Given the description of an element on the screen output the (x, y) to click on. 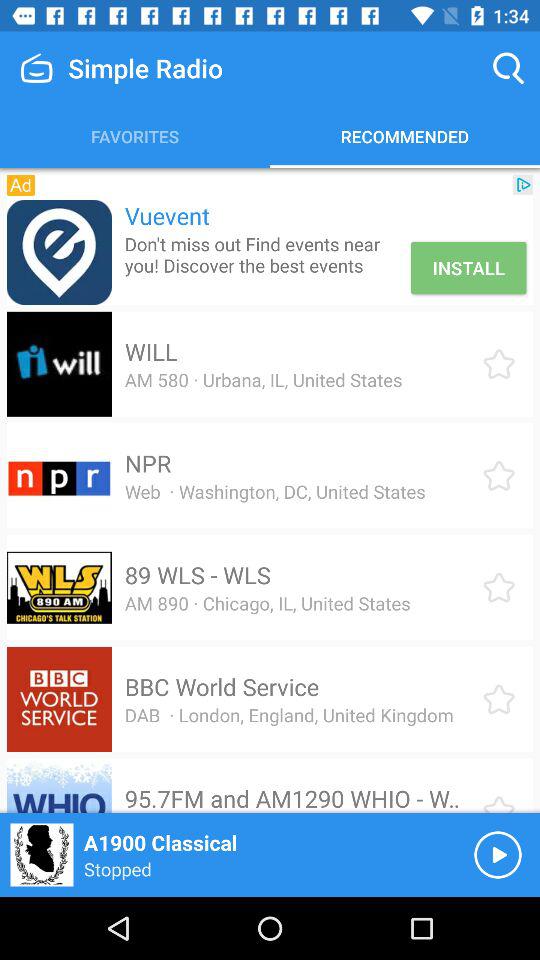
press icon above install icon (523, 184)
